Given the description of an element on the screen output the (x, y) to click on. 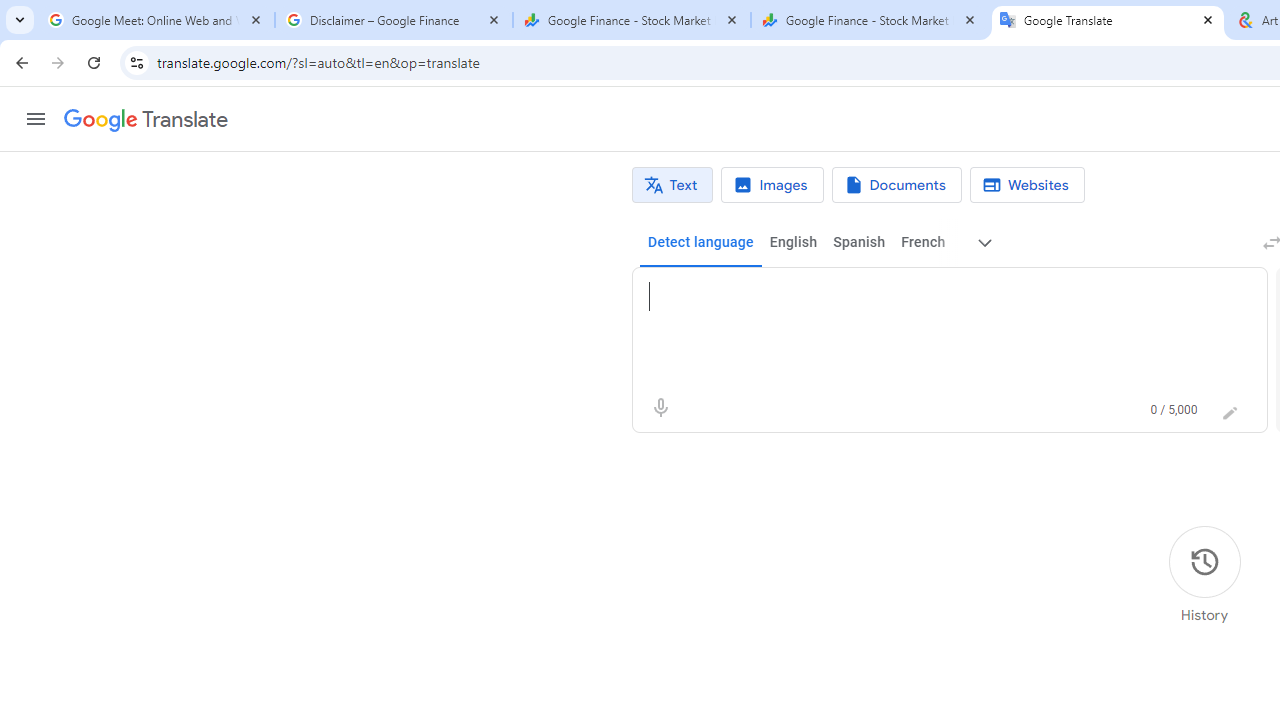
French (922, 242)
Spanish (858, 242)
English (793, 242)
Translate by voice (660, 407)
Detect language (699, 242)
0 of 5,000 characters used (1173, 410)
Google Translate (1108, 20)
More source languages (985, 242)
Source text (930, 295)
